Given the description of an element on the screen output the (x, y) to click on. 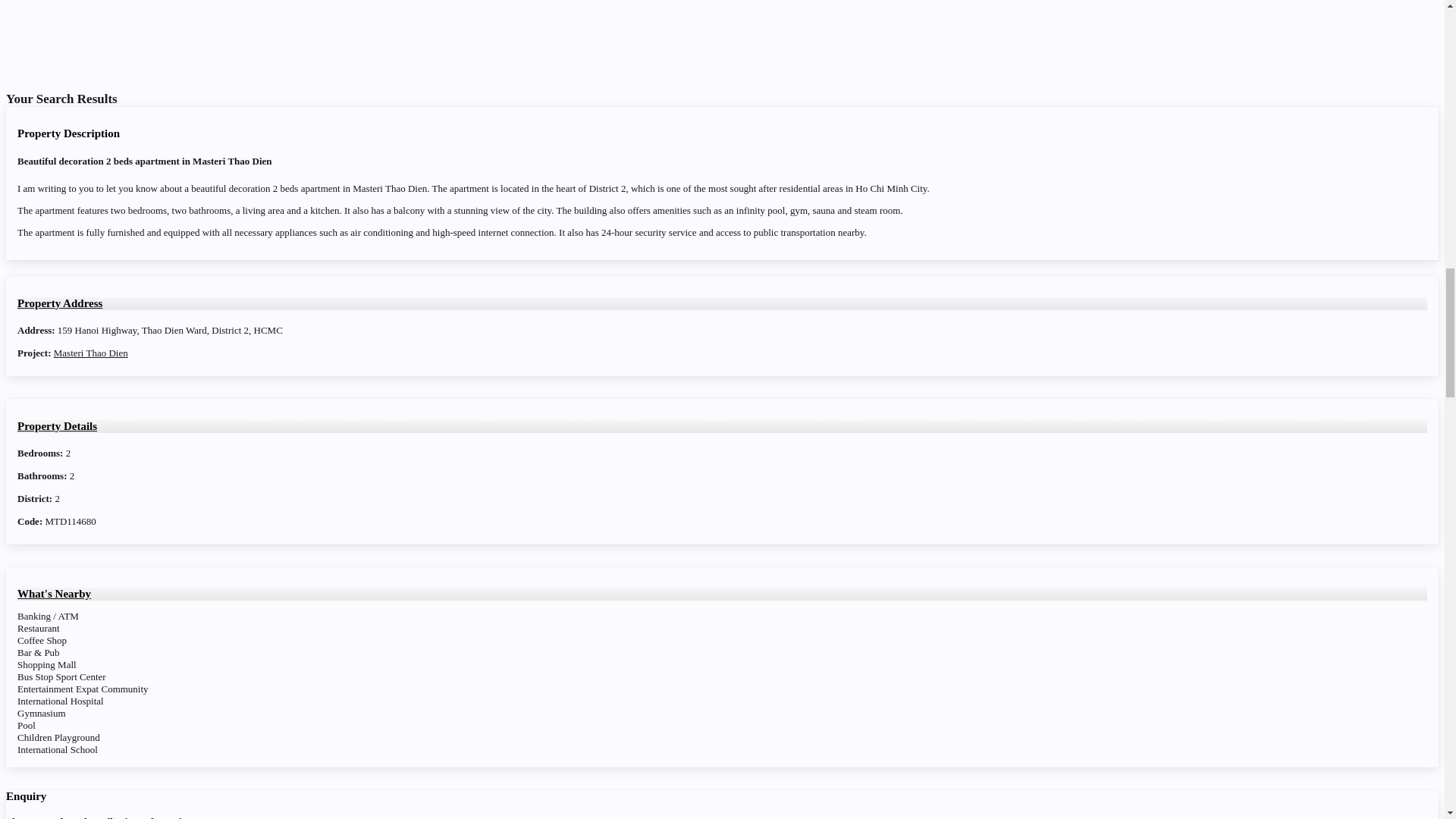
Masteri Thao Dien (90, 352)
